Given the description of an element on the screen output the (x, y) to click on. 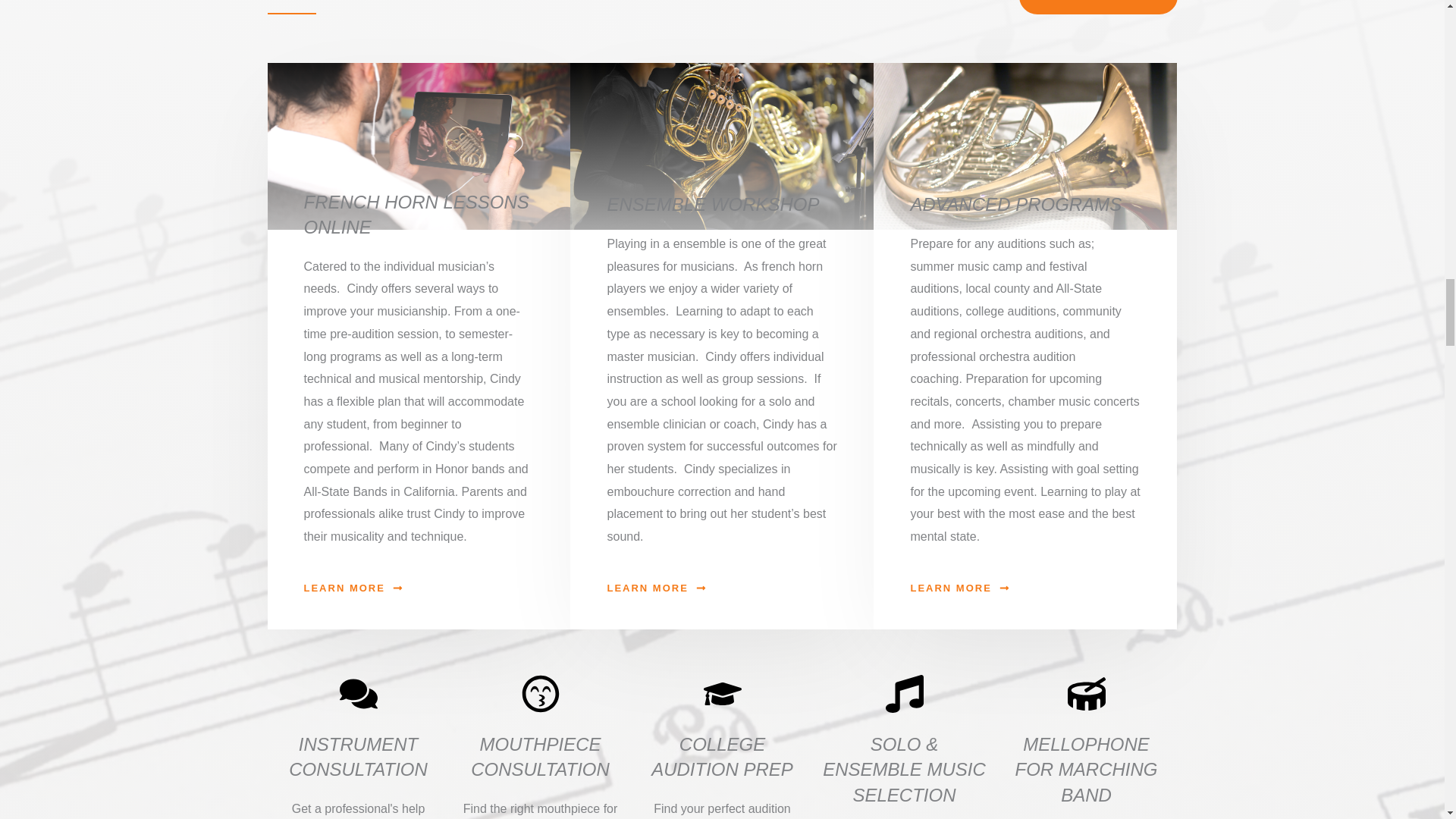
LEARN MORE (959, 588)
LEARN MORE (351, 588)
ENROLL TODAY (1098, 7)
LEARN MORE (655, 588)
